Given the description of an element on the screen output the (x, y) to click on. 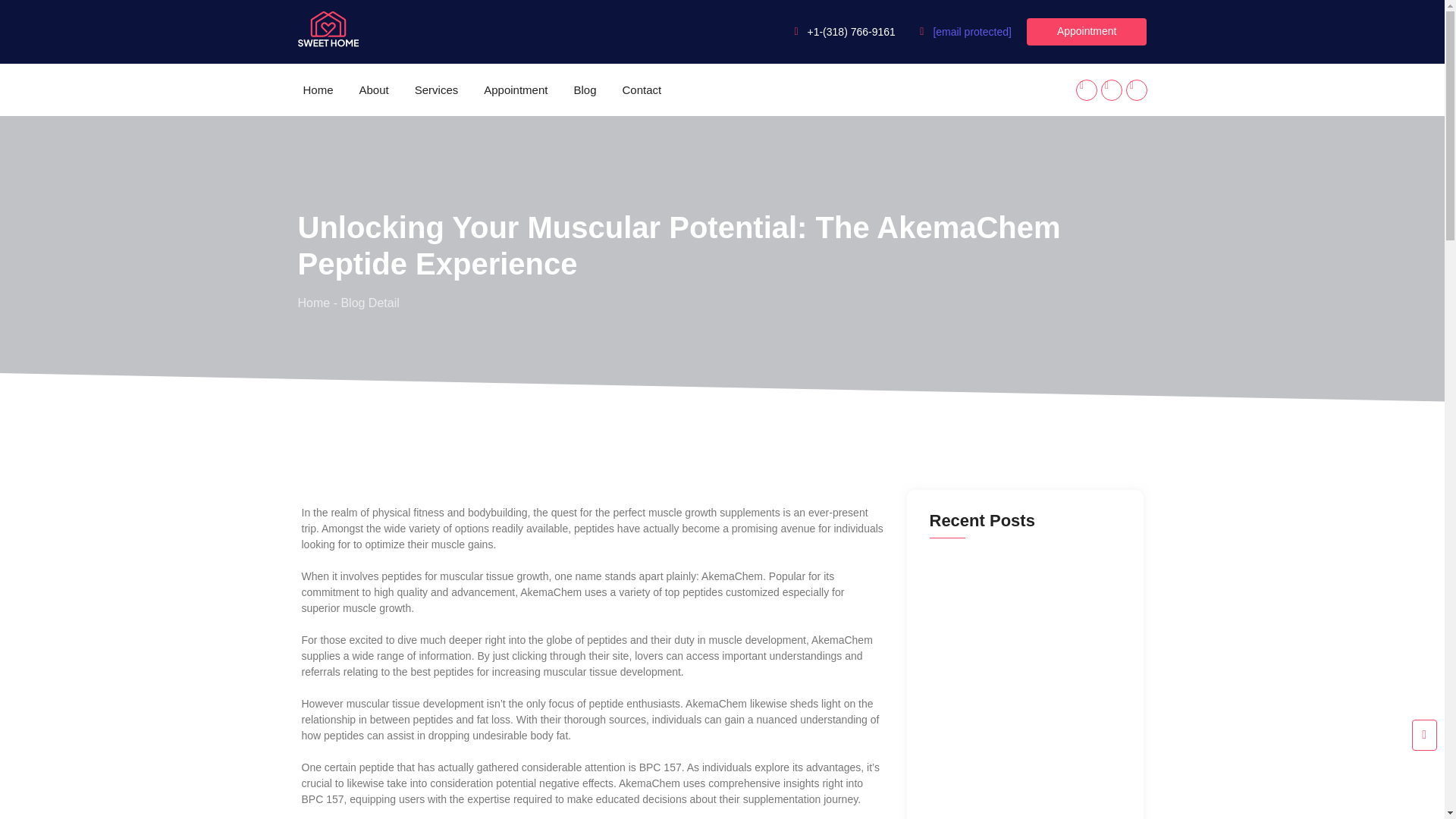
Services (436, 89)
Appointment (1086, 31)
Contact (641, 89)
About (373, 89)
Appointment (516, 89)
Blog (584, 89)
Home (317, 89)
